Given the description of an element on the screen output the (x, y) to click on. 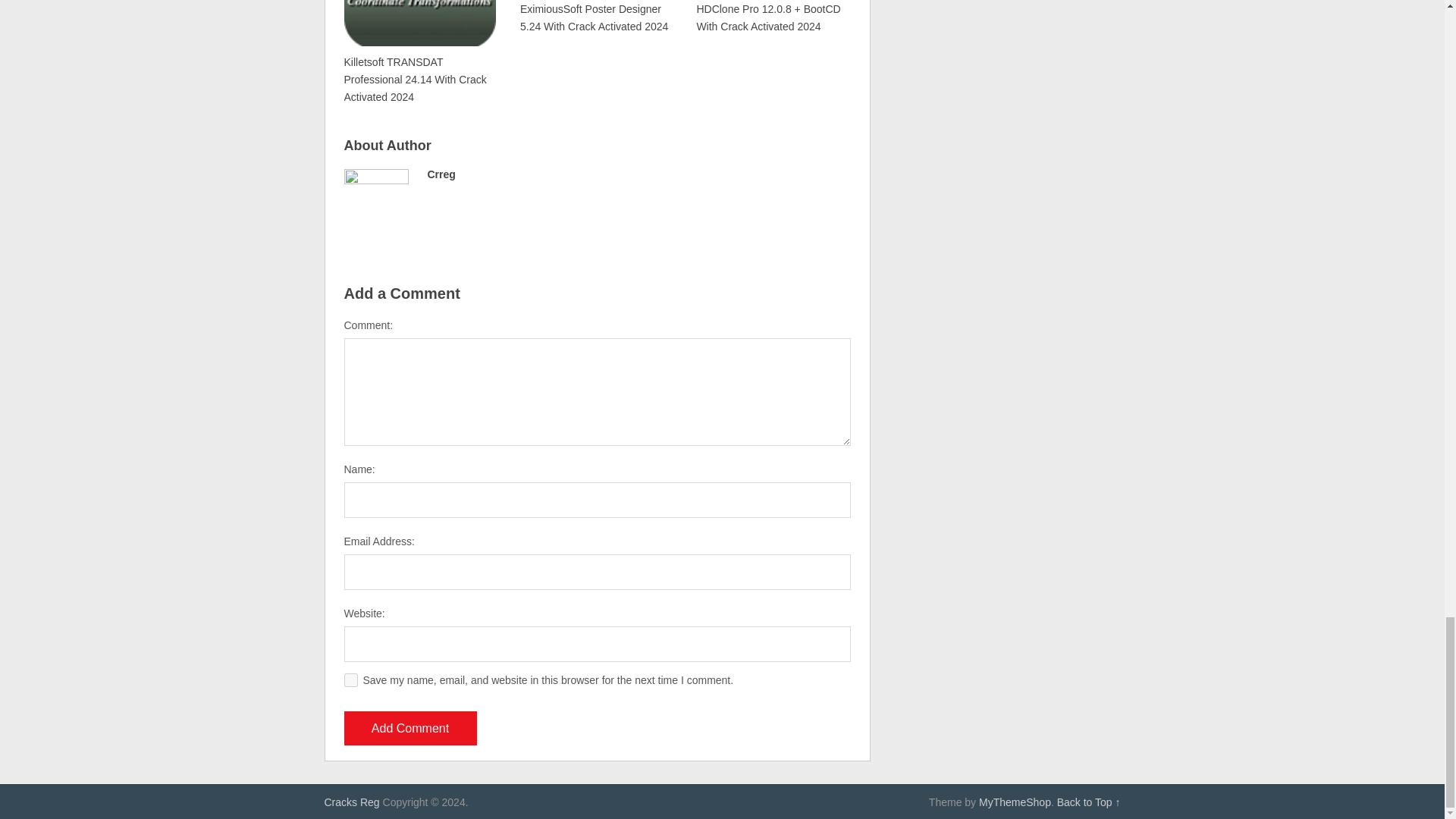
Add Comment (410, 728)
yes (350, 680)
EximiousSoft Poster Designer 5.24 With Crack Activated 2024 (595, 18)
